Given the description of an element on the screen output the (x, y) to click on. 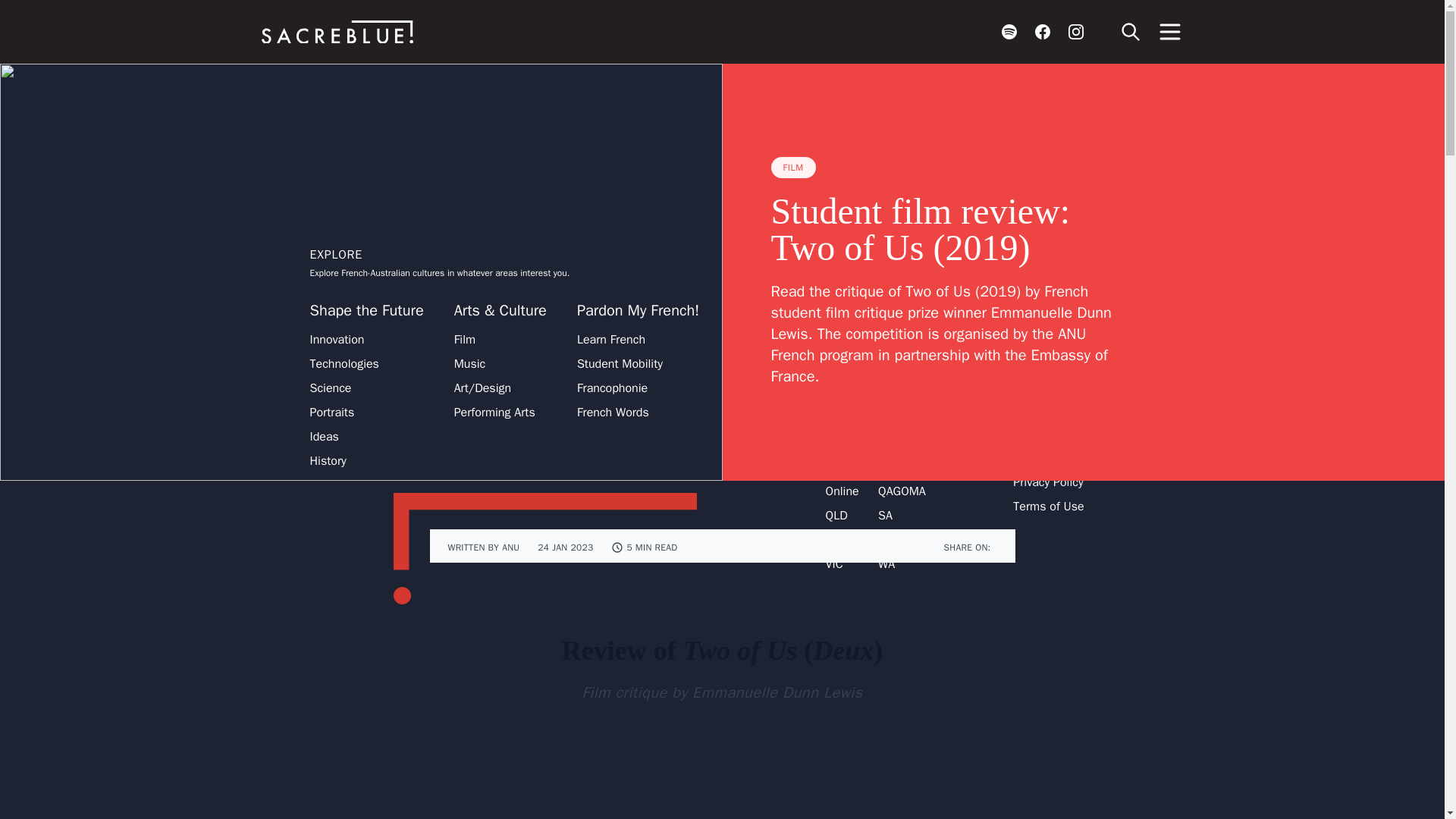
Film (465, 339)
So Trendy (761, 310)
Shape the Future (365, 310)
Innovation (336, 339)
Tourism (750, 339)
NSW (844, 466)
Student Mobility (619, 363)
Music (470, 363)
Learn French (610, 339)
Adelaide (896, 339)
Ideas (322, 436)
France (896, 443)
Pardon My French! (637, 310)
Technologies (343, 363)
Rendez-Vous (868, 310)
